Given the description of an element on the screen output the (x, y) to click on. 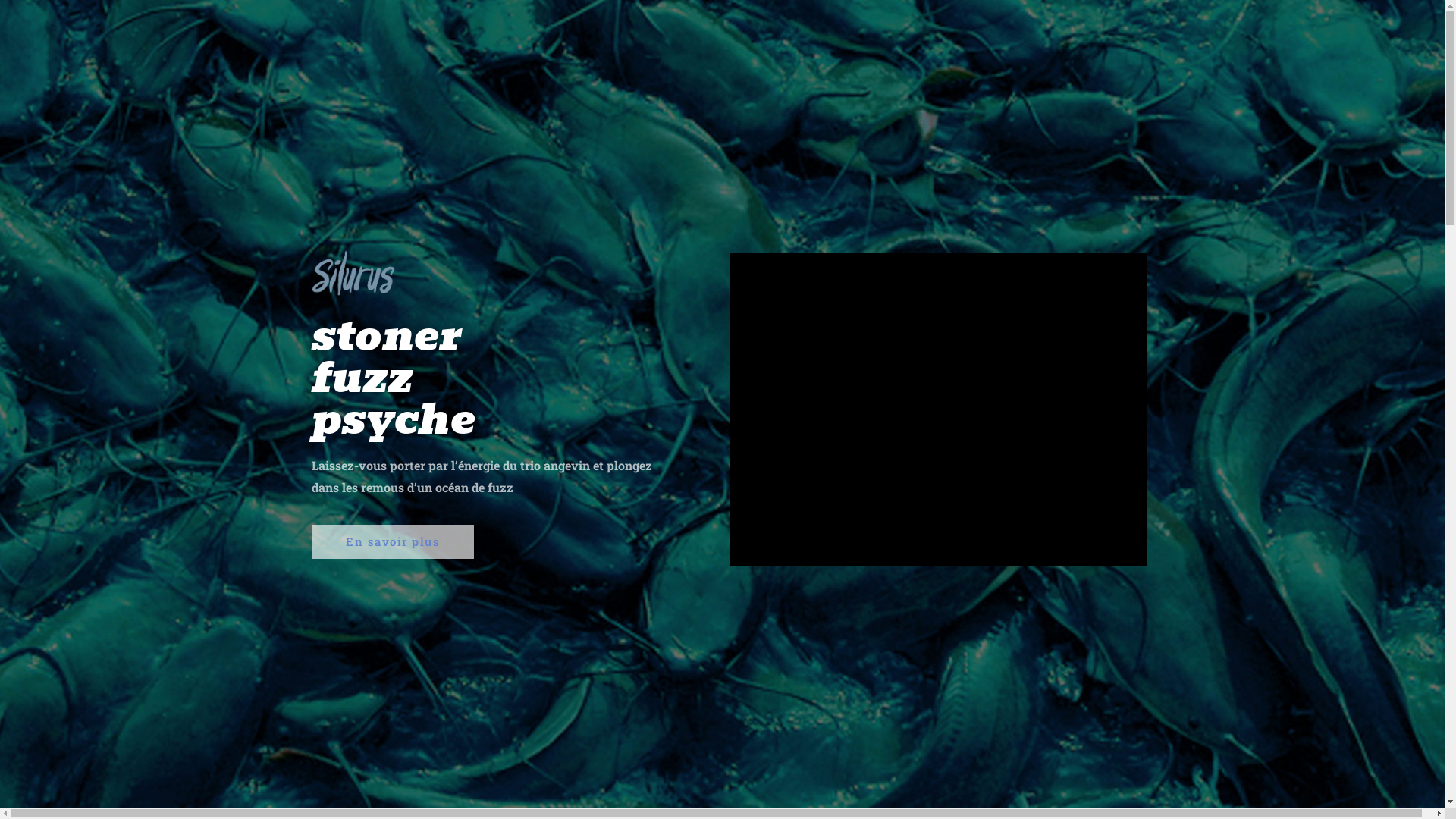
En savoir plus Element type: text (392, 541)
logo-silurus-ConvertImage Element type: hover (353, 271)
